Given the description of an element on the screen output the (x, y) to click on. 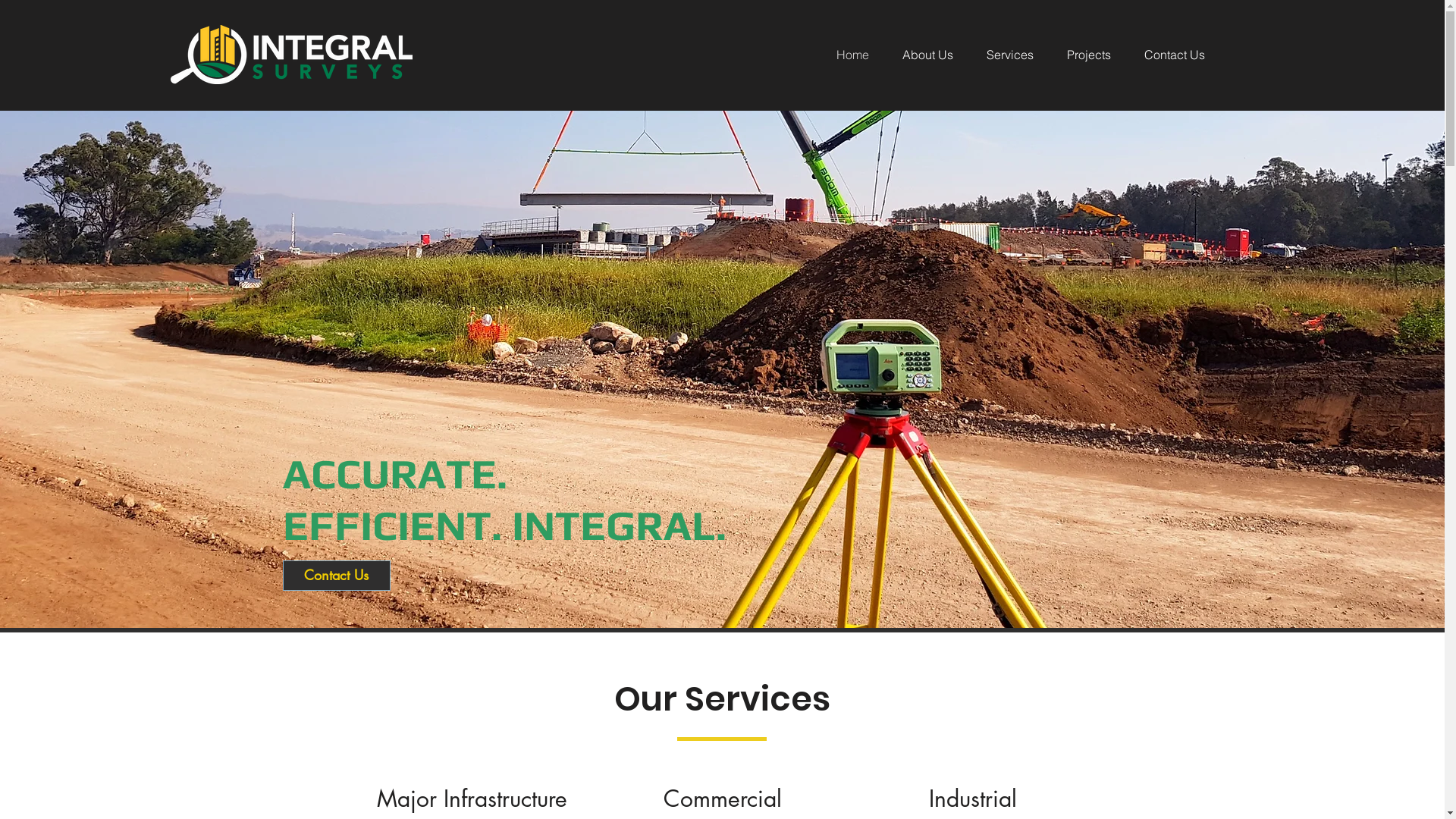
Projects Element type: text (1078, 54)
Contact Us Element type: text (1164, 54)
Contact Us Element type: text (336, 575)
Home Element type: text (842, 54)
About Us Element type: text (918, 54)
